Given the description of an element on the screen output the (x, y) to click on. 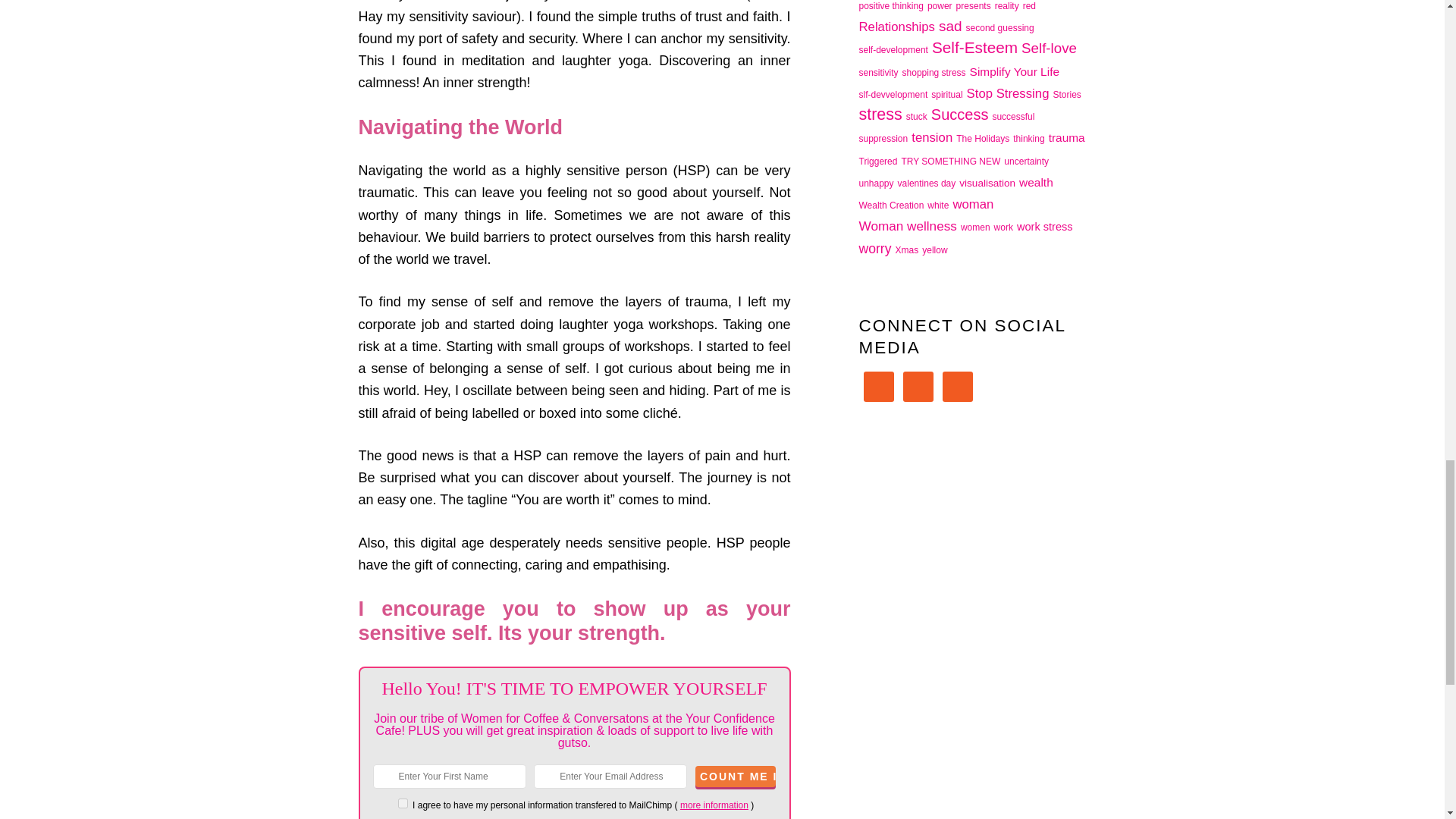
on (402, 803)
COUNT ME IN. YAY! (735, 776)
more information (713, 805)
COUNT ME IN. YAY! (735, 776)
